Given the description of an element on the screen output the (x, y) to click on. 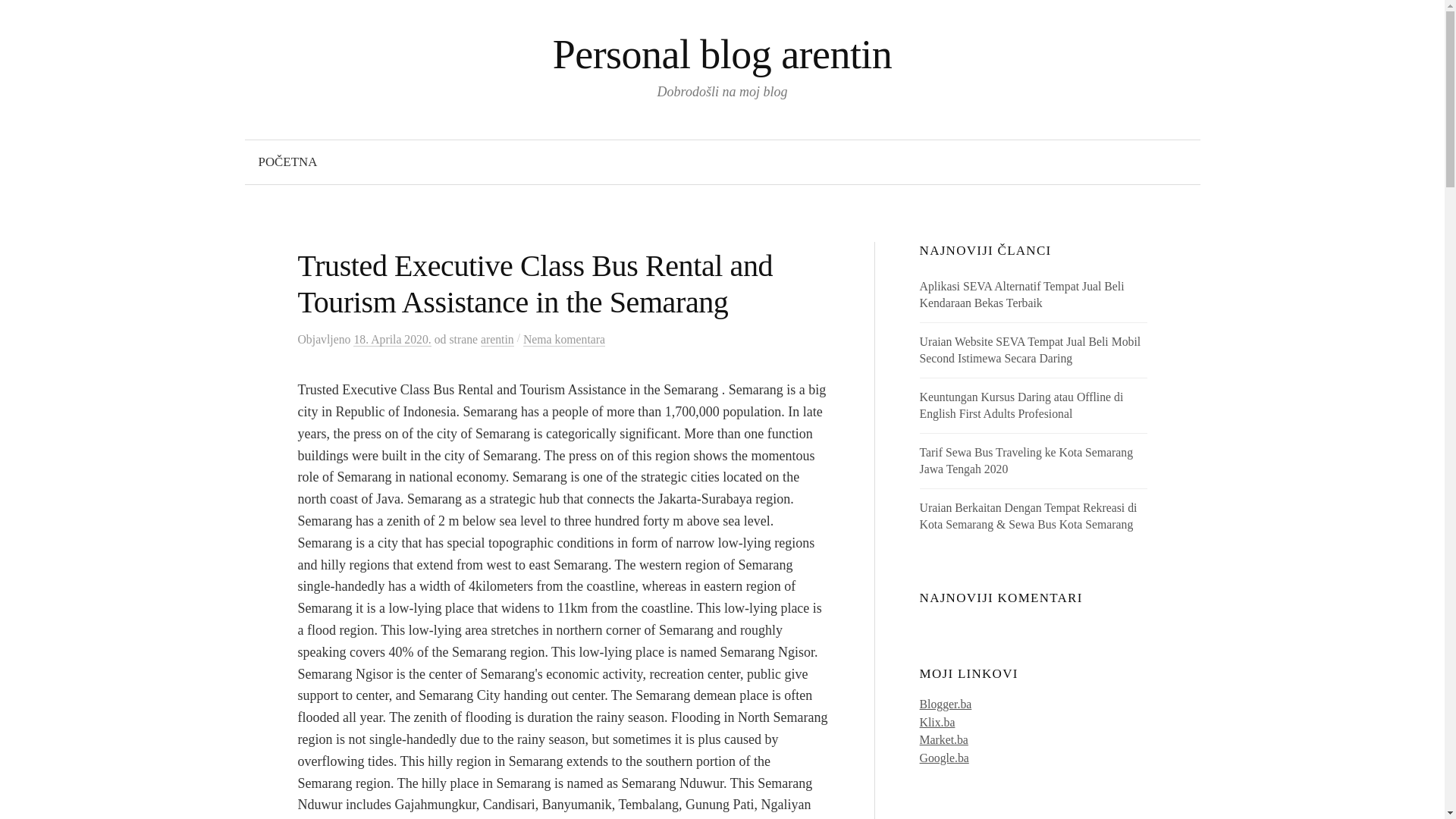
arentin (496, 339)
Blogger.ba (946, 703)
Tarif Sewa Bus Traveling ke Kota Semarang Jawa Tengah 2020 (1026, 460)
Market.ba (944, 739)
Pogledaj sve objave od arentin (496, 339)
18. Aprila 2020. (391, 339)
Pretraga (18, 18)
Google.ba (944, 757)
Klix.ba (937, 721)
Personal blog arentin (722, 53)
